Given the description of an element on the screen output the (x, y) to click on. 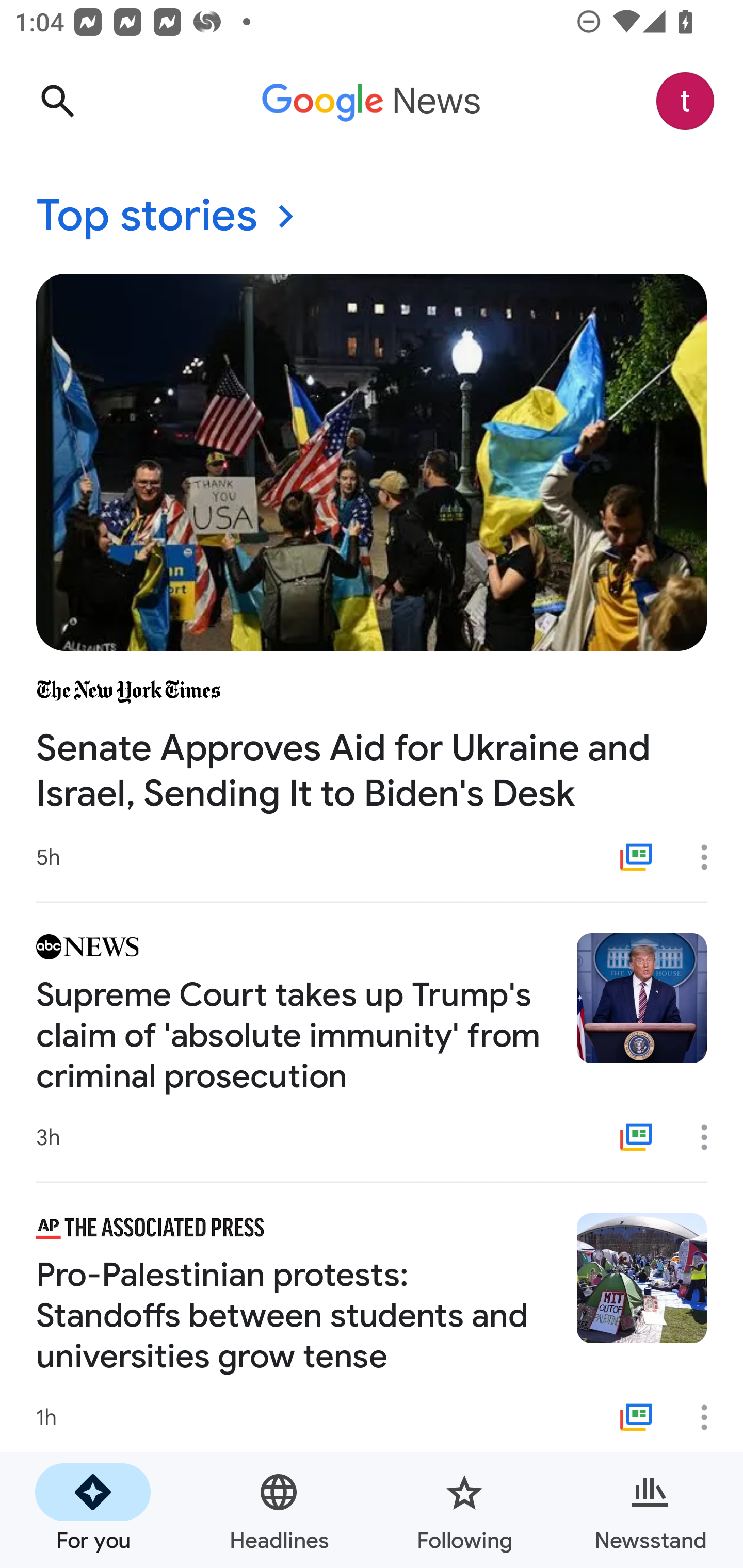
Search (57, 100)
Top stories (371, 216)
More options (711, 856)
More options (711, 1137)
More options (711, 1417)
For you (92, 1509)
Headlines (278, 1509)
Following (464, 1509)
Newsstand (650, 1509)
